Given the description of an element on the screen output the (x, y) to click on. 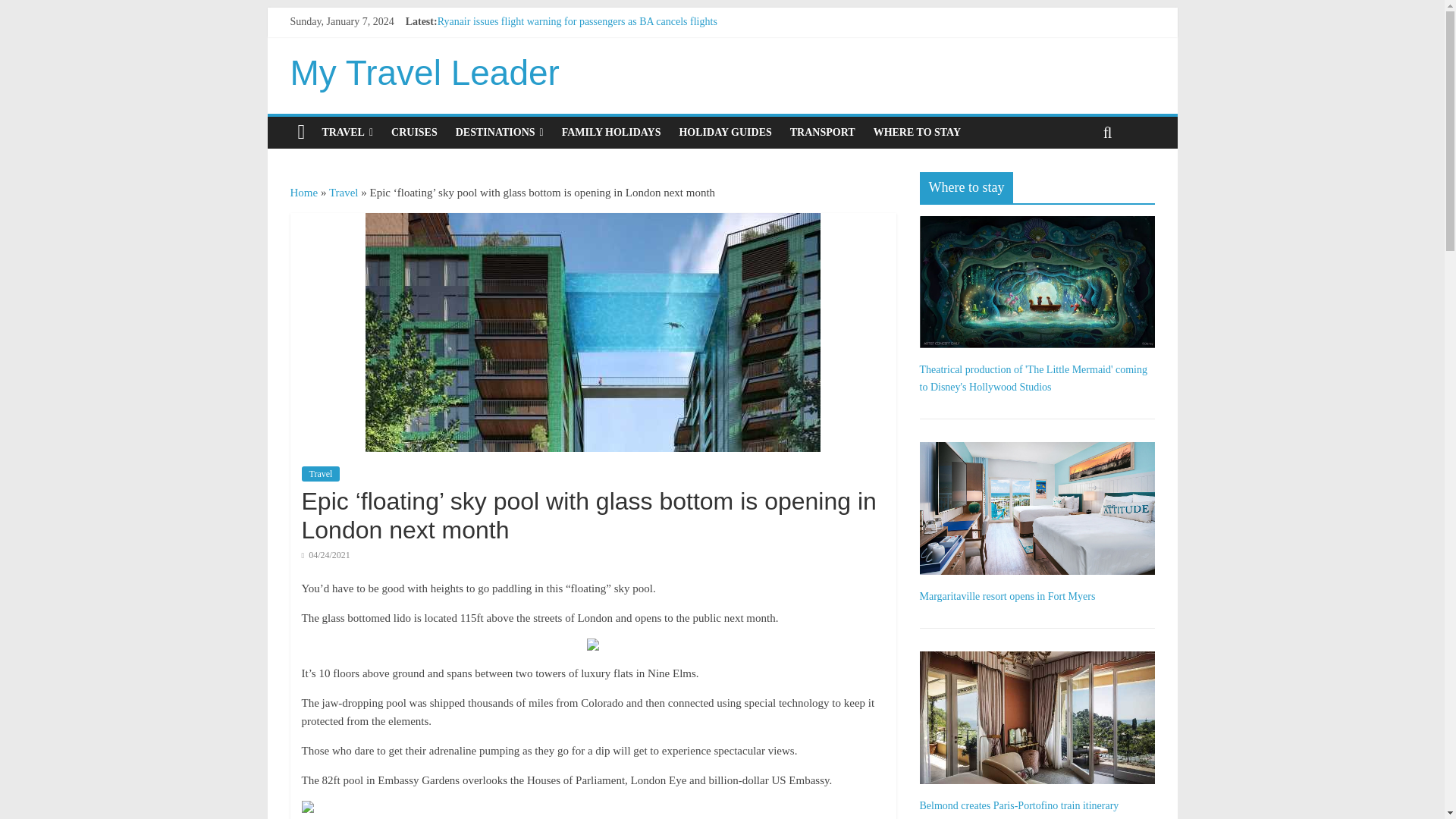
TRAVEL (347, 132)
DESTINATIONS (499, 132)
TRANSPORT (822, 132)
CRUISES (413, 132)
Home (303, 192)
WHERE TO STAY (916, 132)
Travel (343, 192)
Travel (320, 473)
My Travel Leader (424, 72)
FAMILY HOLIDAYS (611, 132)
10:52 (325, 554)
